Given the description of an element on the screen output the (x, y) to click on. 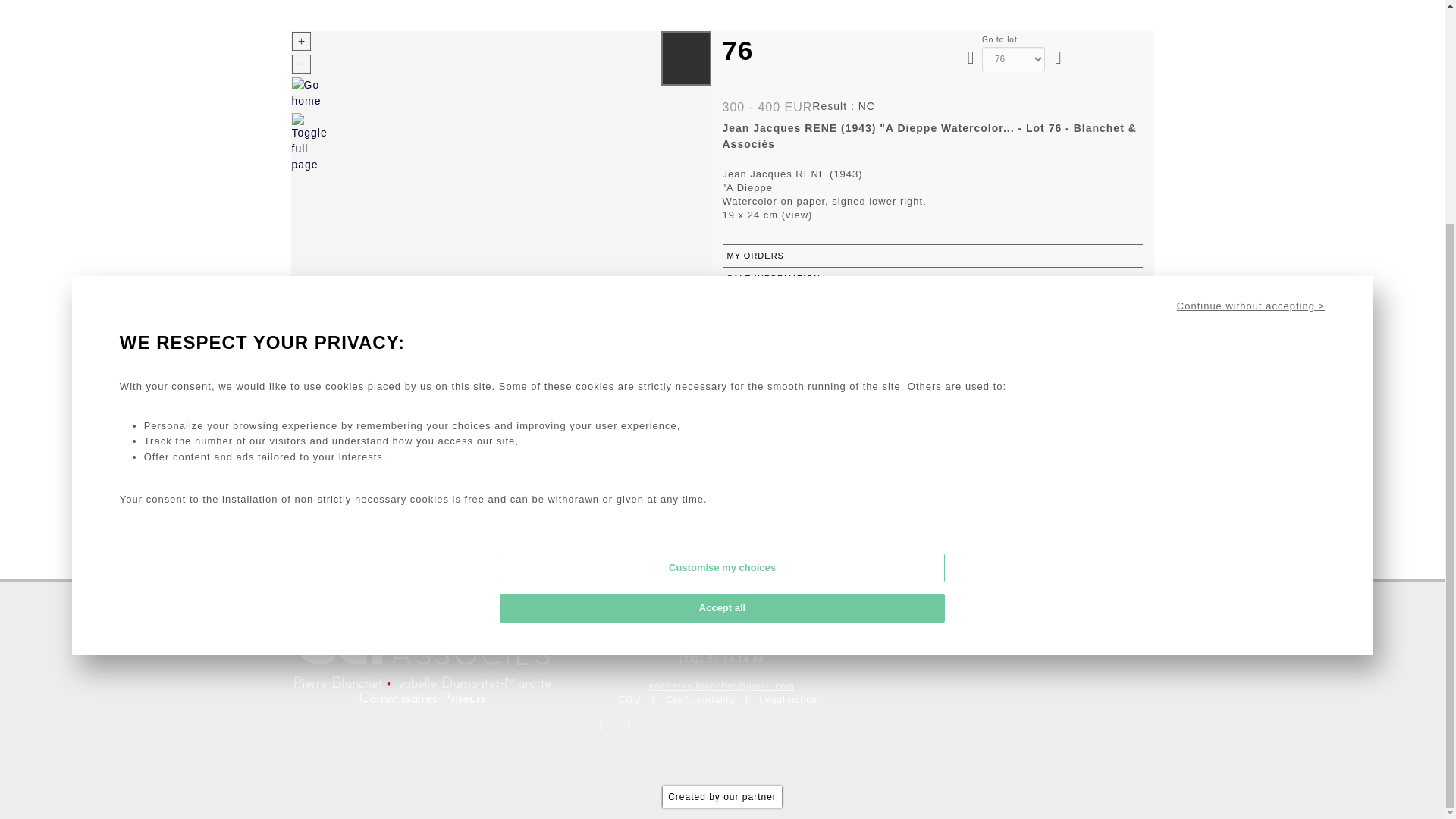
SALES CONDITIONS (931, 300)
RETURN TO CATALOGUE (931, 323)
SALE INFORMATION (931, 278)
Go home (308, 94)
